Given the description of an element on the screen output the (x, y) to click on. 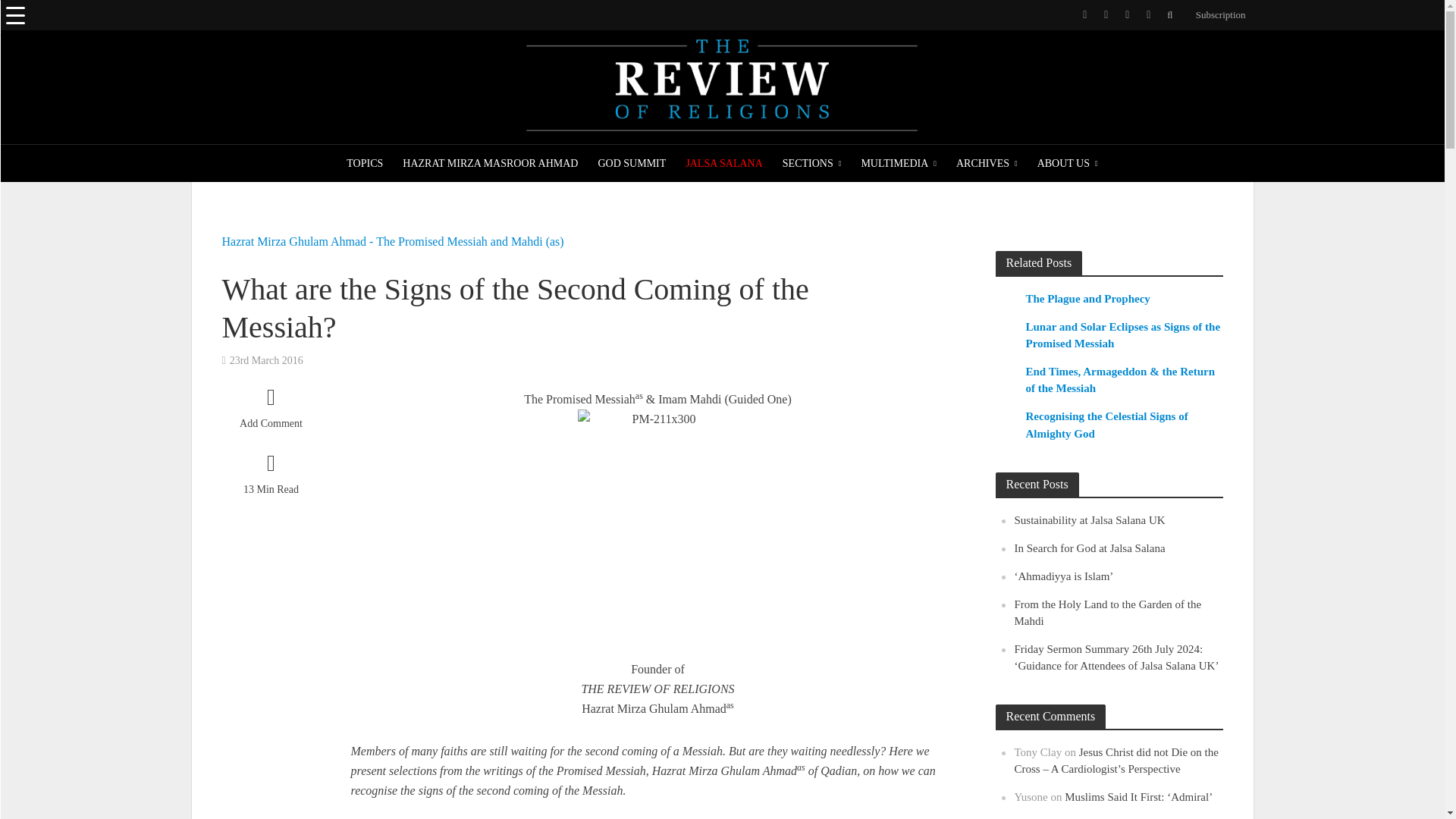
MULTIMEDIA (898, 163)
GOD SUMMIT (631, 163)
Subscription (1217, 15)
ARCHIVES (986, 163)
SECTIONS (812, 163)
HAZRAT MIRZA MASROOR AHMAD (490, 163)
ABOUT US (1067, 163)
Search (26, 18)
TOPICS (364, 163)
JALSA SALANA (724, 163)
